Given the description of an element on the screen output the (x, y) to click on. 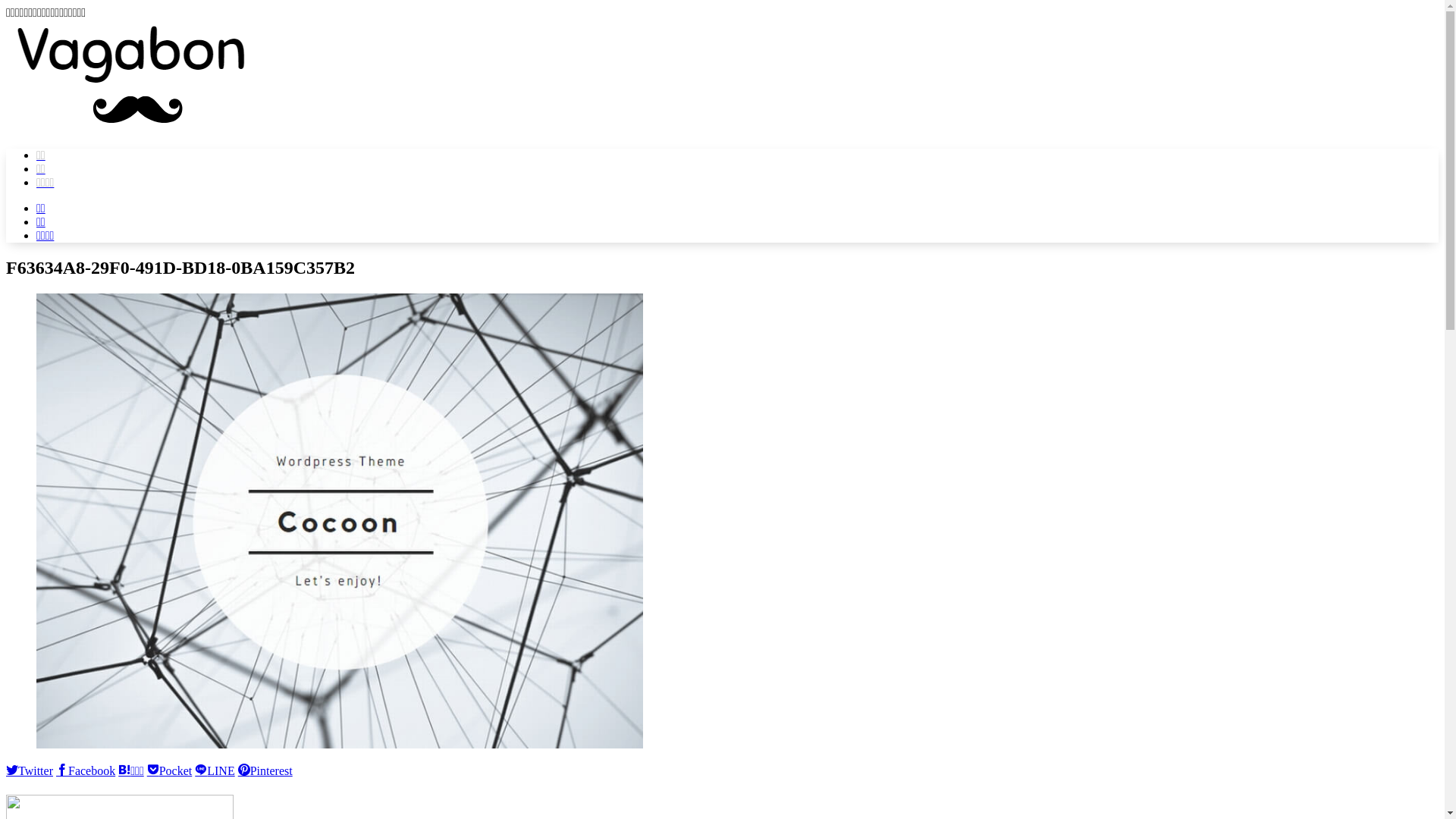
LINE Element type: text (214, 770)
Twitter Element type: text (29, 770)
Pocket Element type: text (169, 770)
Pinterest Element type: text (265, 770)
Facebook Element type: text (85, 770)
